Given the description of an element on the screen output the (x, y) to click on. 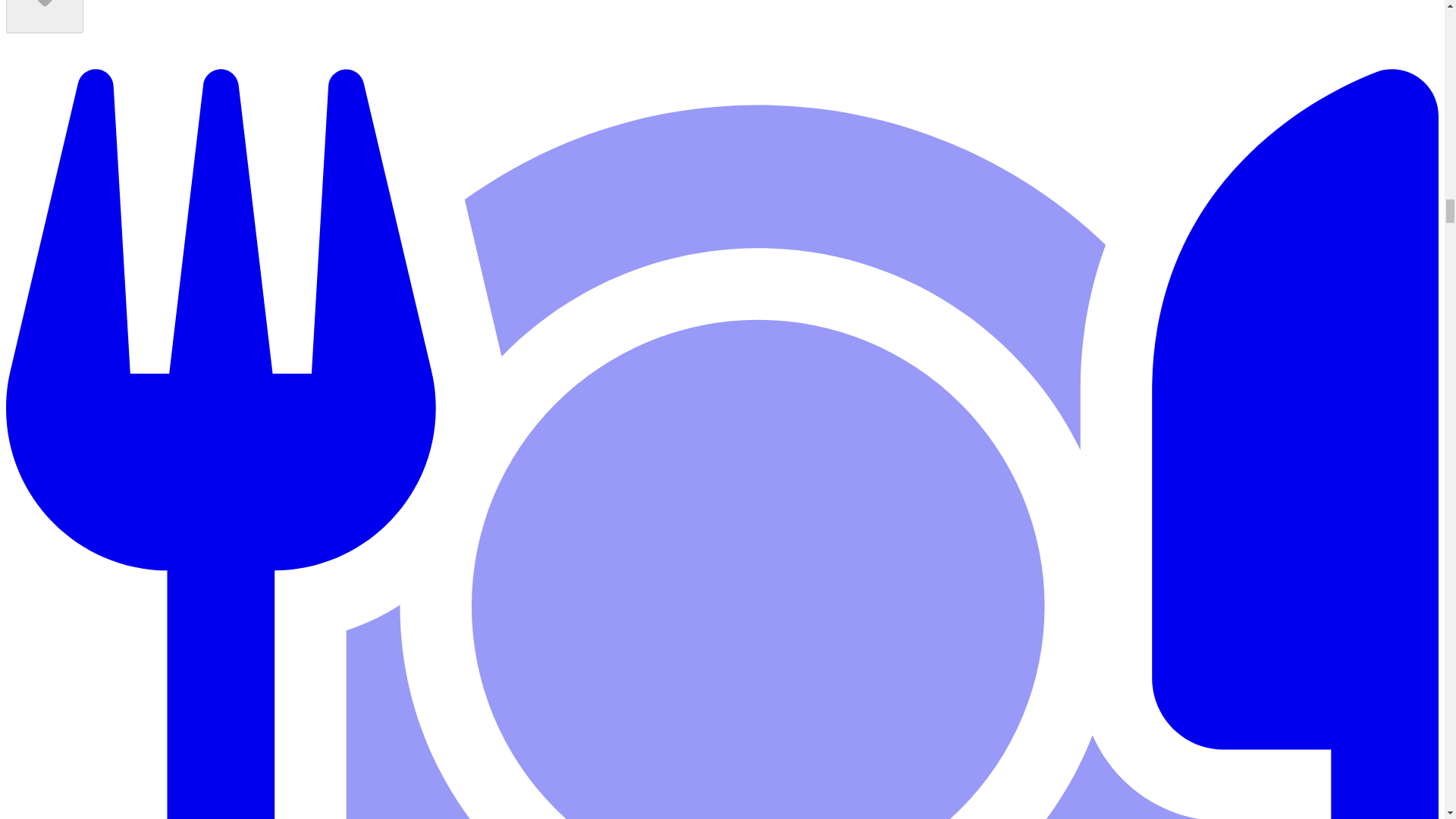
Event Staffing (43, 16)
